Given the description of an element on the screen output the (x, y) to click on. 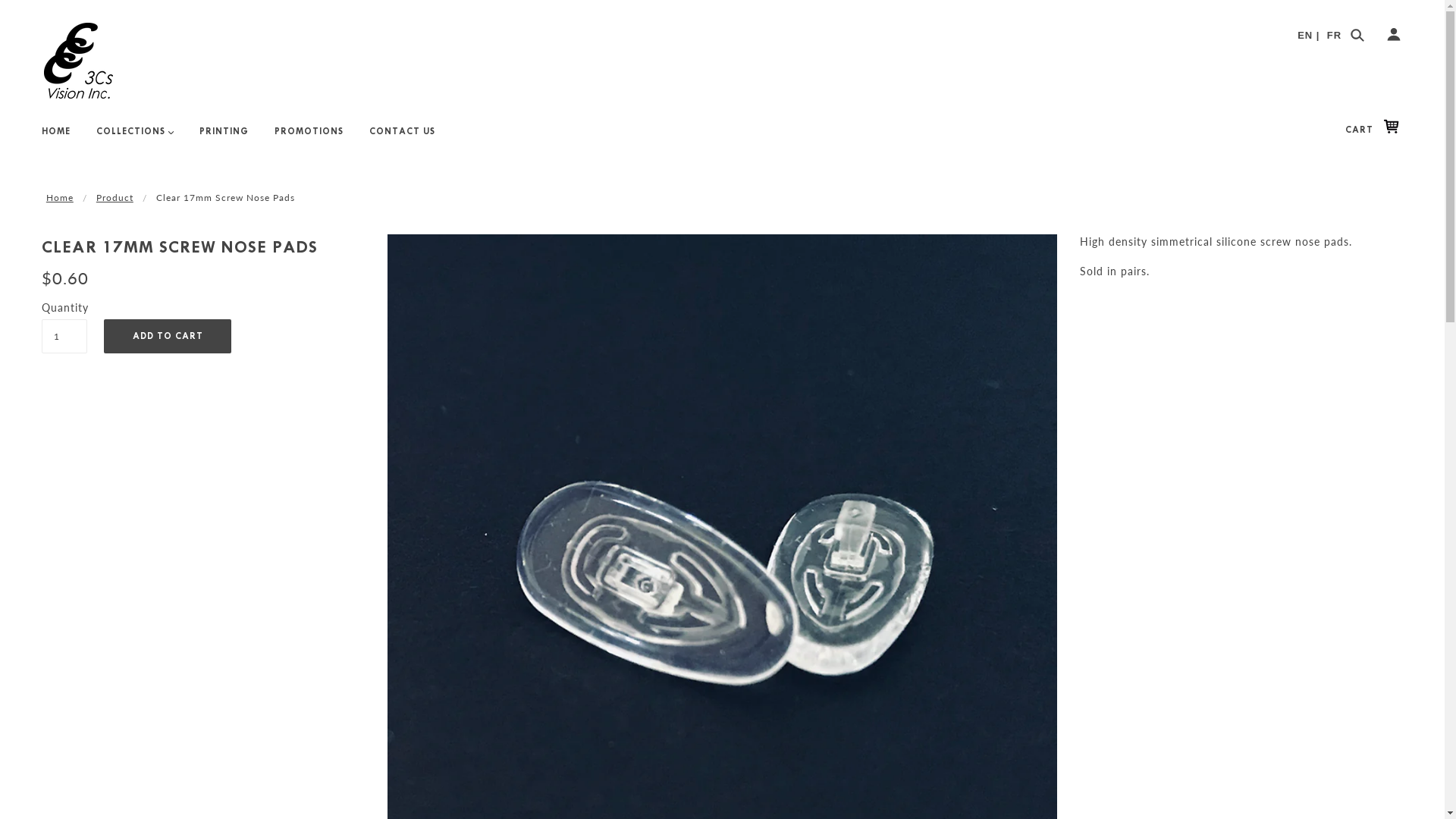
EN | Element type: text (1308, 34)
PROMOTIONS Element type: text (308, 137)
Home Element type: text (59, 196)
COLLECTIONS Element type: text (134, 137)
HOME Element type: text (55, 137)
3Csvision Element type: hover (77, 60)
Add to Cart Element type: text (167, 335)
CART Element type: text (1375, 129)
PRINTING Element type: text (224, 137)
Product Element type: text (114, 196)
CONTACT US Element type: text (401, 137)
FR Element type: text (1334, 34)
